Given the description of an element on the screen output the (x, y) to click on. 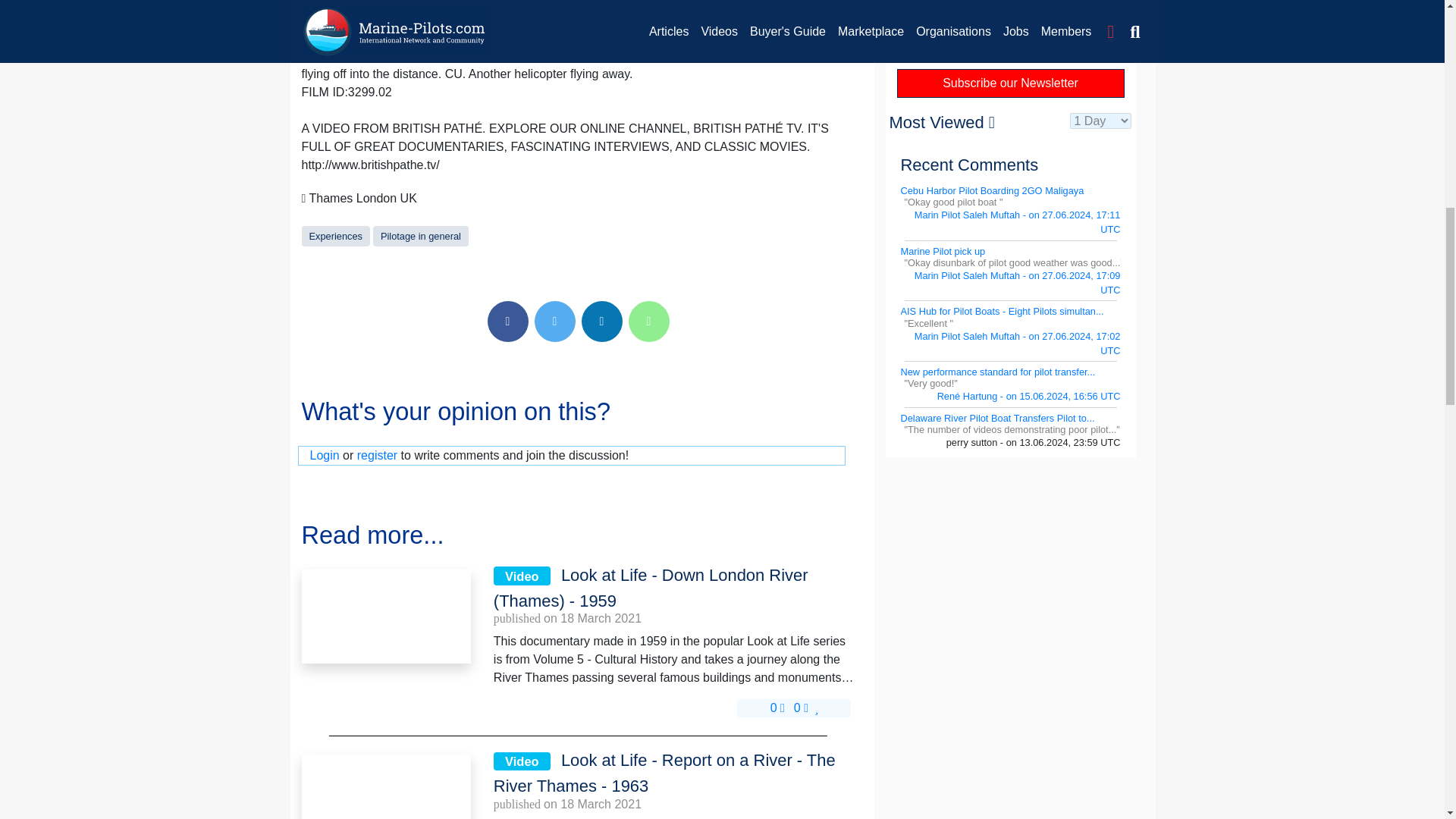
Pilotage in general (420, 235)
Experiences (335, 235)
register (376, 454)
Experiences (335, 235)
0 (777, 707)
Look at Life - Report on a River - The River Thames - 1963 (385, 786)
Pilotage in general (420, 235)
Login (323, 454)
